Given the description of an element on the screen output the (x, y) to click on. 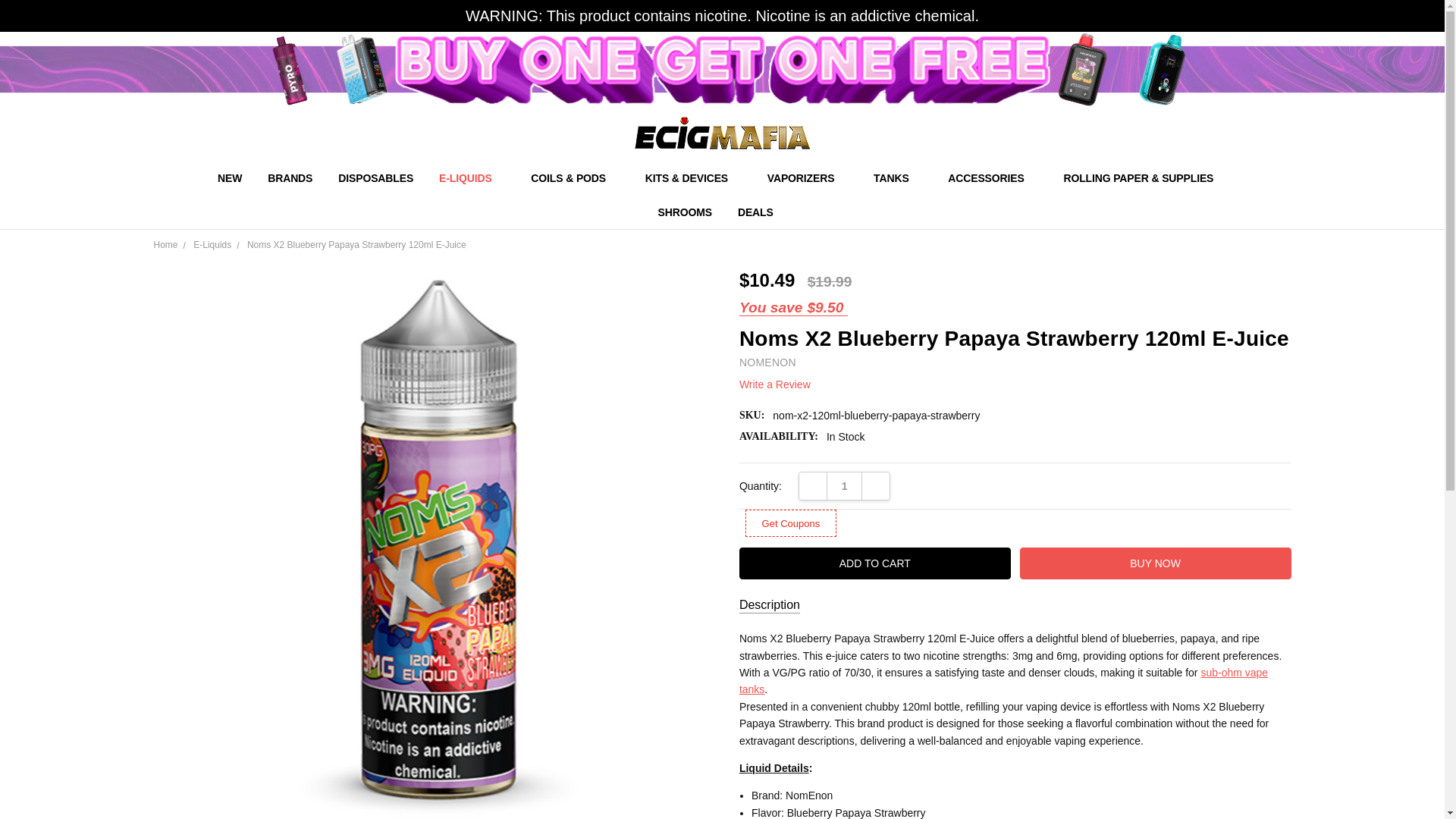
E-LIQUIDS (472, 177)
NEW (229, 177)
Show All (743, 178)
Buy Now (1155, 563)
BRANDS (289, 177)
ECigMafia (721, 134)
DISPOSABLES (375, 177)
1 (844, 485)
Add to Cart (874, 563)
